Given the description of an element on the screen output the (x, y) to click on. 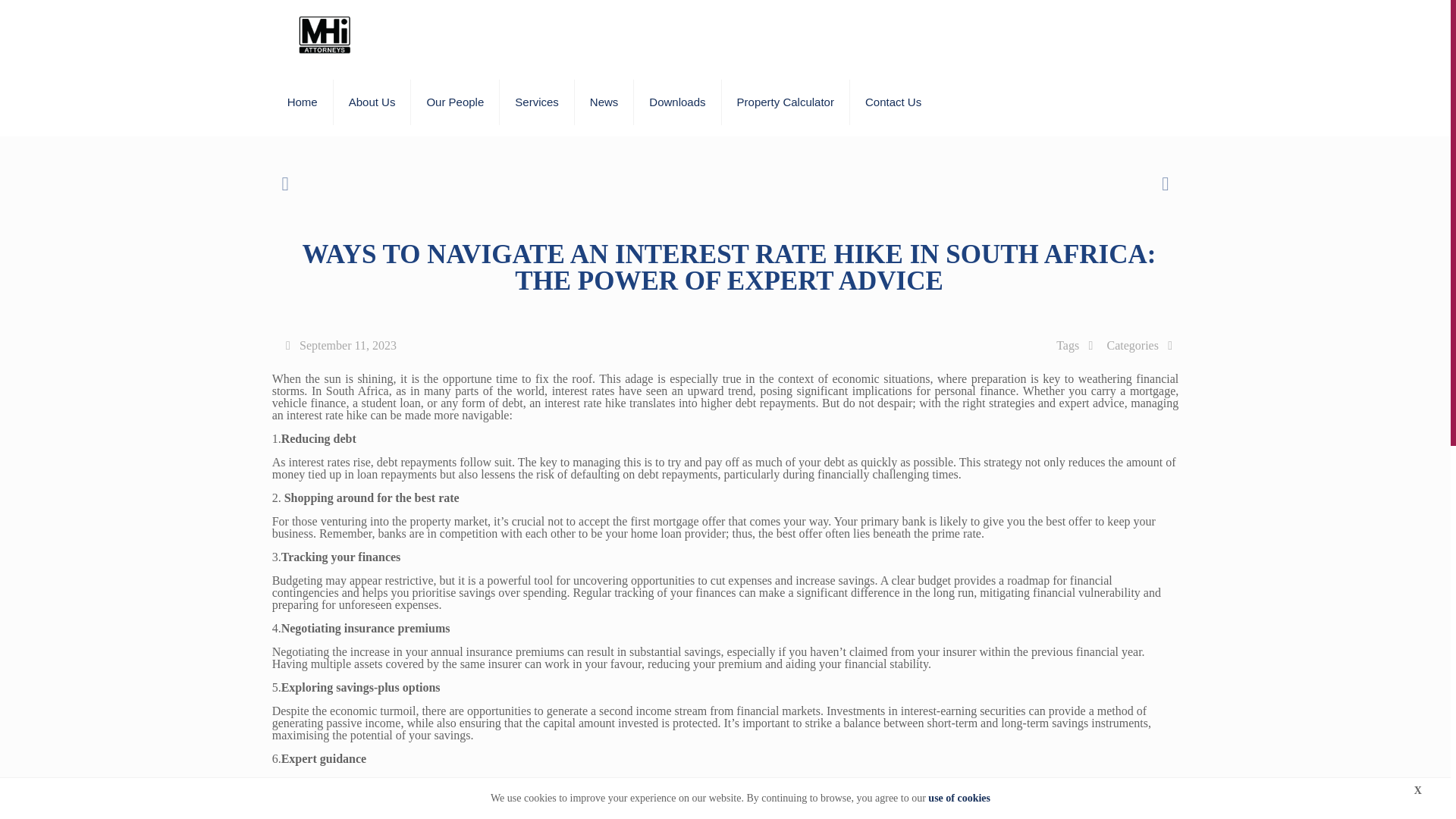
MHi Attorneys (323, 33)
About Us (372, 101)
Our People (454, 101)
Home (302, 101)
use of cookies (959, 797)
Property Calculator (786, 101)
Downloads (676, 101)
Contact Us (893, 101)
Services (537, 101)
